Given the description of an element on the screen output the (x, y) to click on. 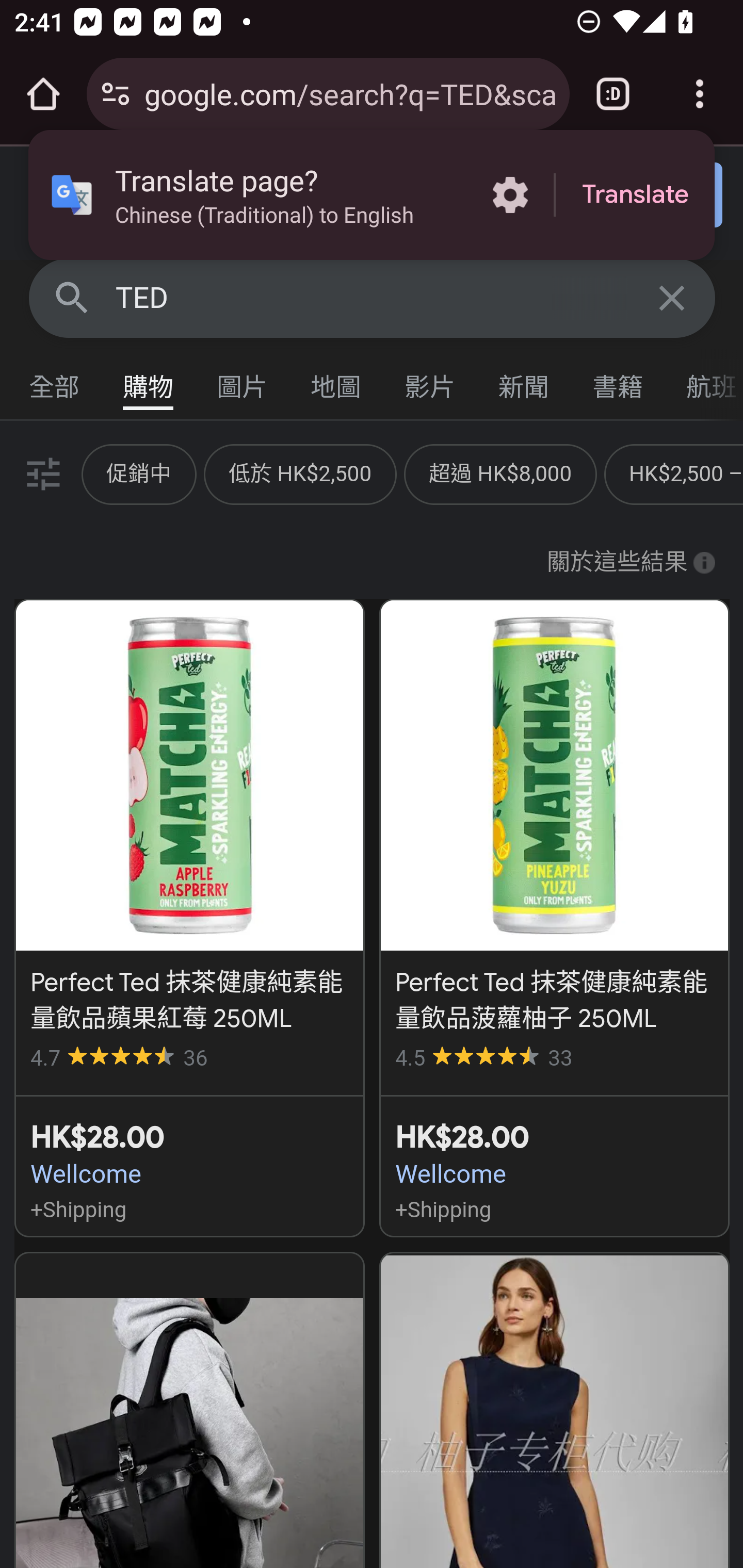
Open the home page (43, 93)
Connection is secure (115, 93)
Switch or close tabs (612, 93)
Customize and control Google Chrome (699, 93)
More options in the Translate page? (509, 195)
登入 (650, 195)
Google 搜尋 (71, 296)
清除搜尋內容 (672, 296)
TED (372, 297)
全部 (54, 382)
圖片 (242, 382)
地圖 (336, 382)
影片 (430, 382)
新聞 (524, 382)
書籍 (618, 382)
航班 (703, 382)
篩選器.未套用任何篩選條件。 (41, 473)
促銷中 (138, 473)
低於 HK$2,500 (300, 473)
超過 HK$8,000 (499, 473)
HK$2,500 – HK$8,000 (685, 473)
關於這些結果 More info 關於這些結果  More info (630, 562)
Ted Backpack | Ted 休閒旅行背包 (189, 1410)
TED BAKAR女士短款A字裙修身顯瘦無袖收腰氣質梅花通勤洋裝 (553, 1410)
